Given the description of an element on the screen output the (x, y) to click on. 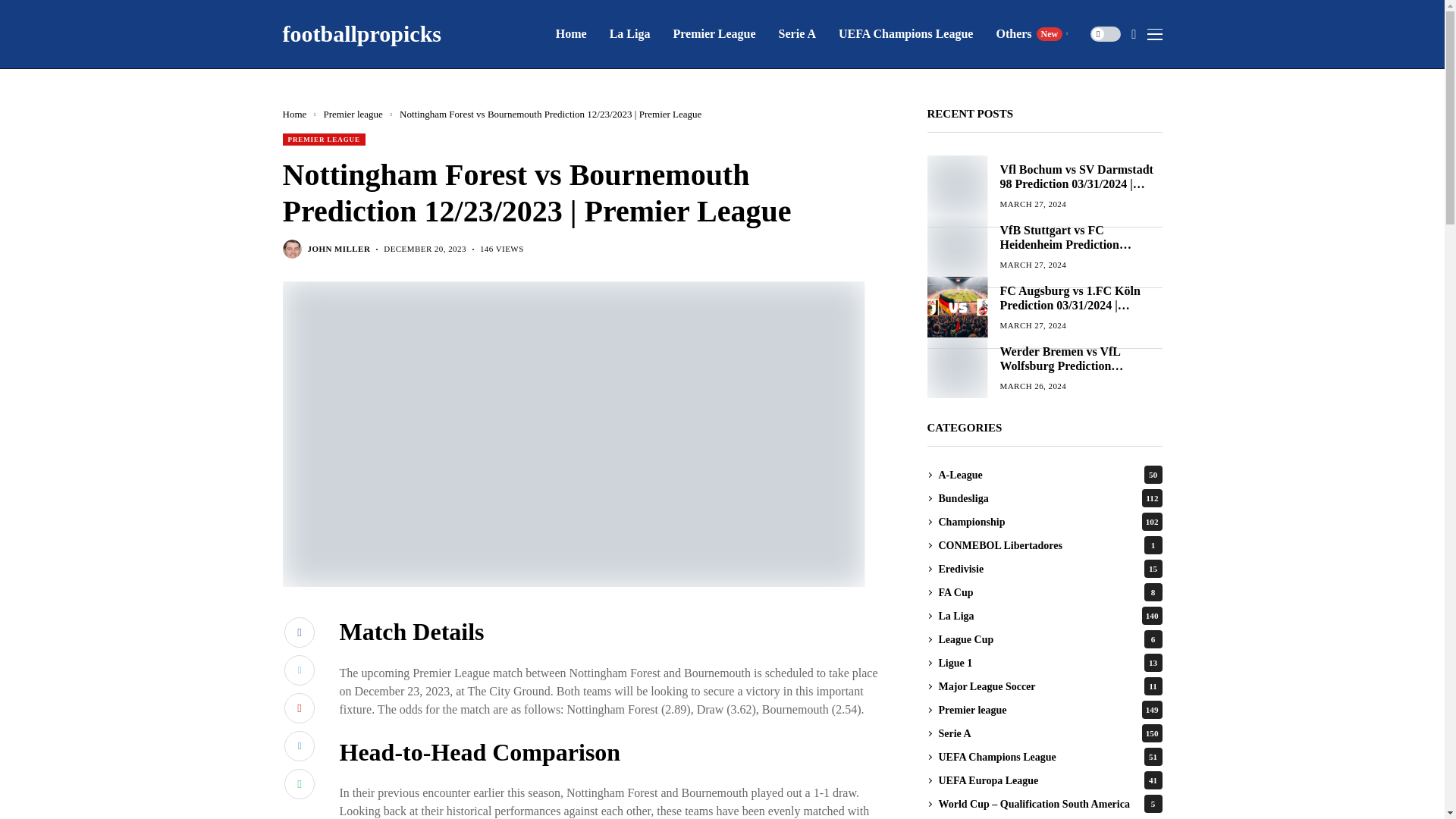
footballpropicks (361, 33)
UEFA Champions League (1031, 33)
Premier League (906, 33)
Posts by John Miller (713, 33)
